Given the description of an element on the screen output the (x, y) to click on. 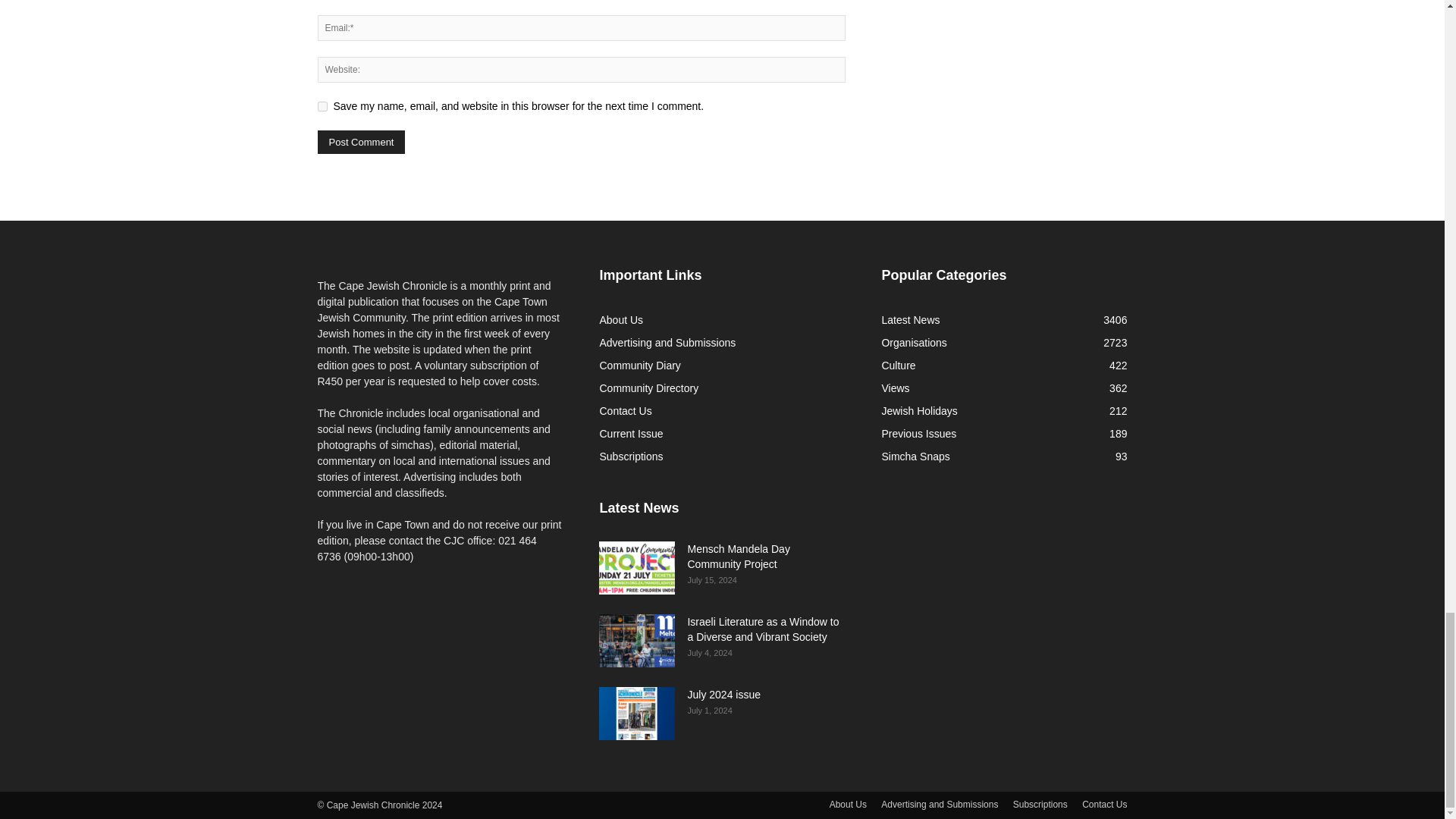
yes (321, 106)
Post Comment (360, 141)
